Given the description of an element on the screen output the (x, y) to click on. 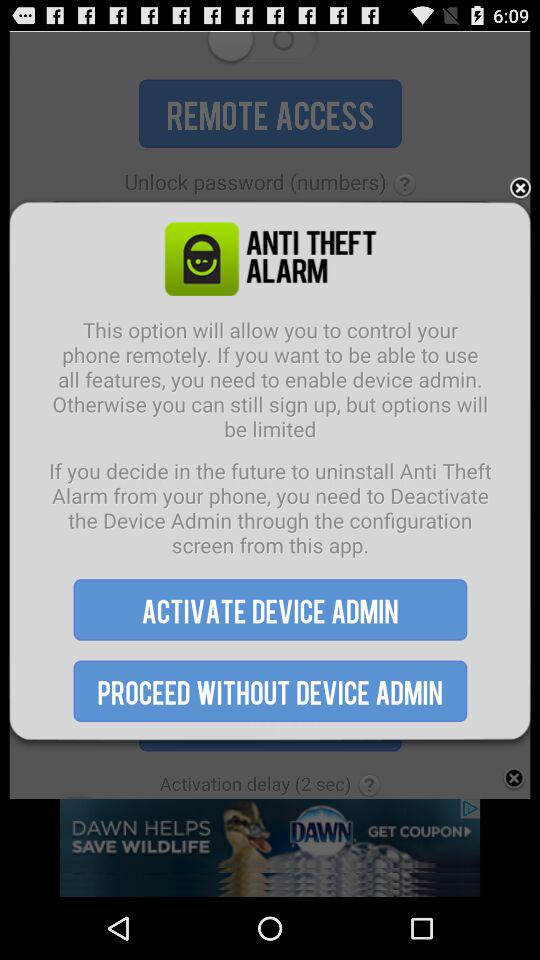
close pop up (520, 188)
